Given the description of an element on the screen output the (x, y) to click on. 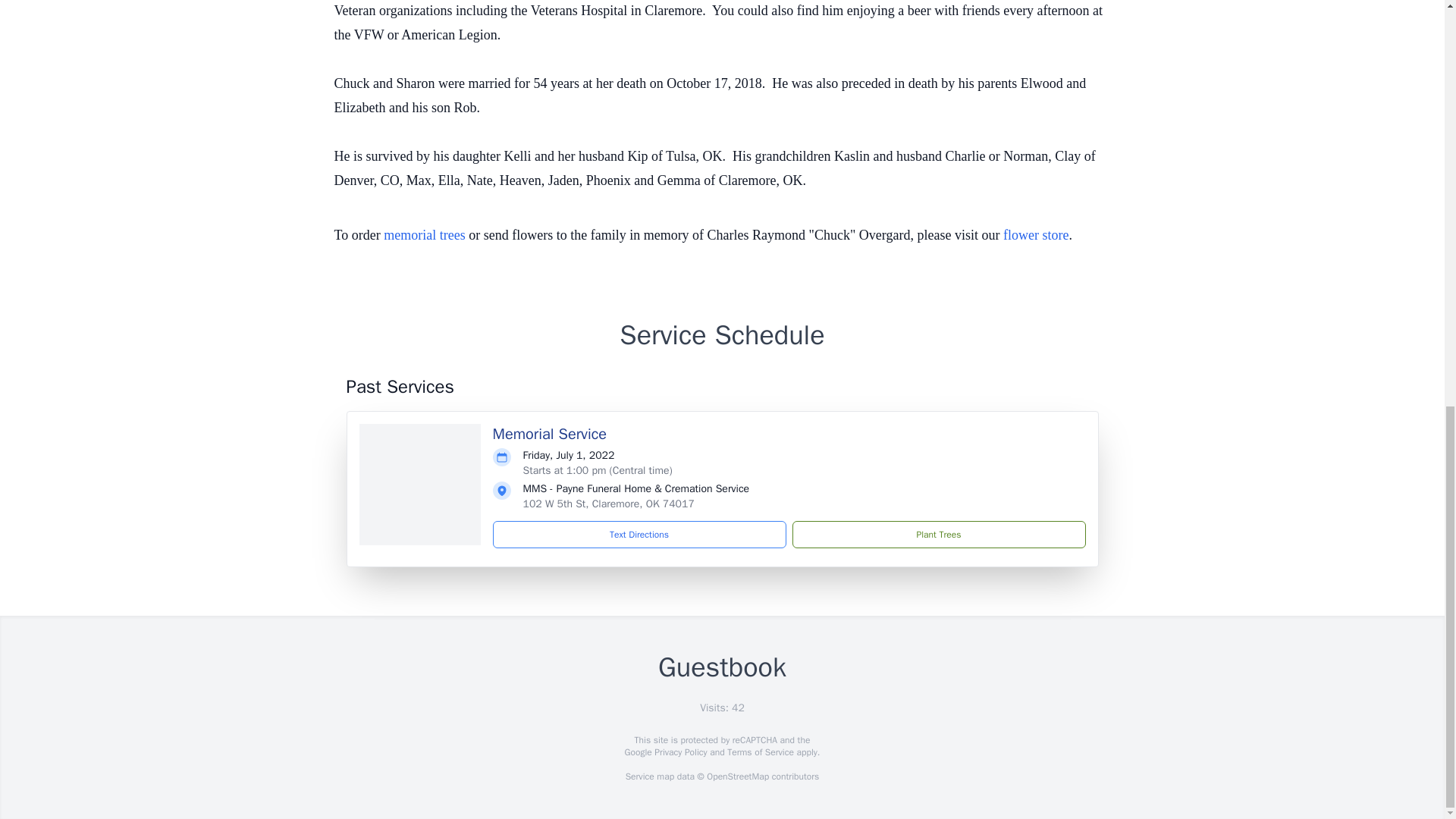
flower store (1035, 234)
memorial trees (424, 234)
Plant Trees (938, 533)
102 W 5th St, Claremore, OK 74017 (608, 503)
Terms of Service (759, 752)
Text Directions (639, 533)
Privacy Policy (679, 752)
OpenStreetMap (737, 776)
